Given the description of an element on the screen output the (x, y) to click on. 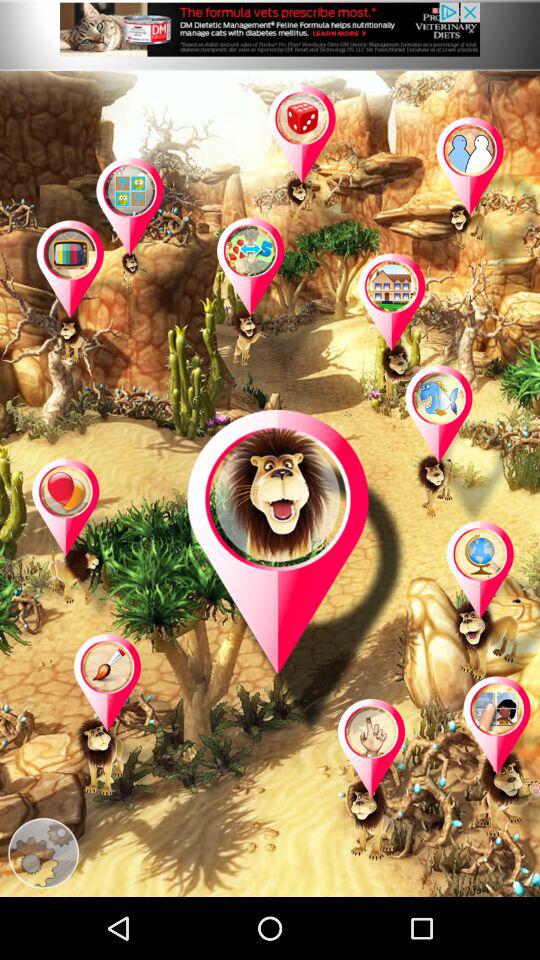
location or select area (271, 299)
